Given the description of an element on the screen output the (x, y) to click on. 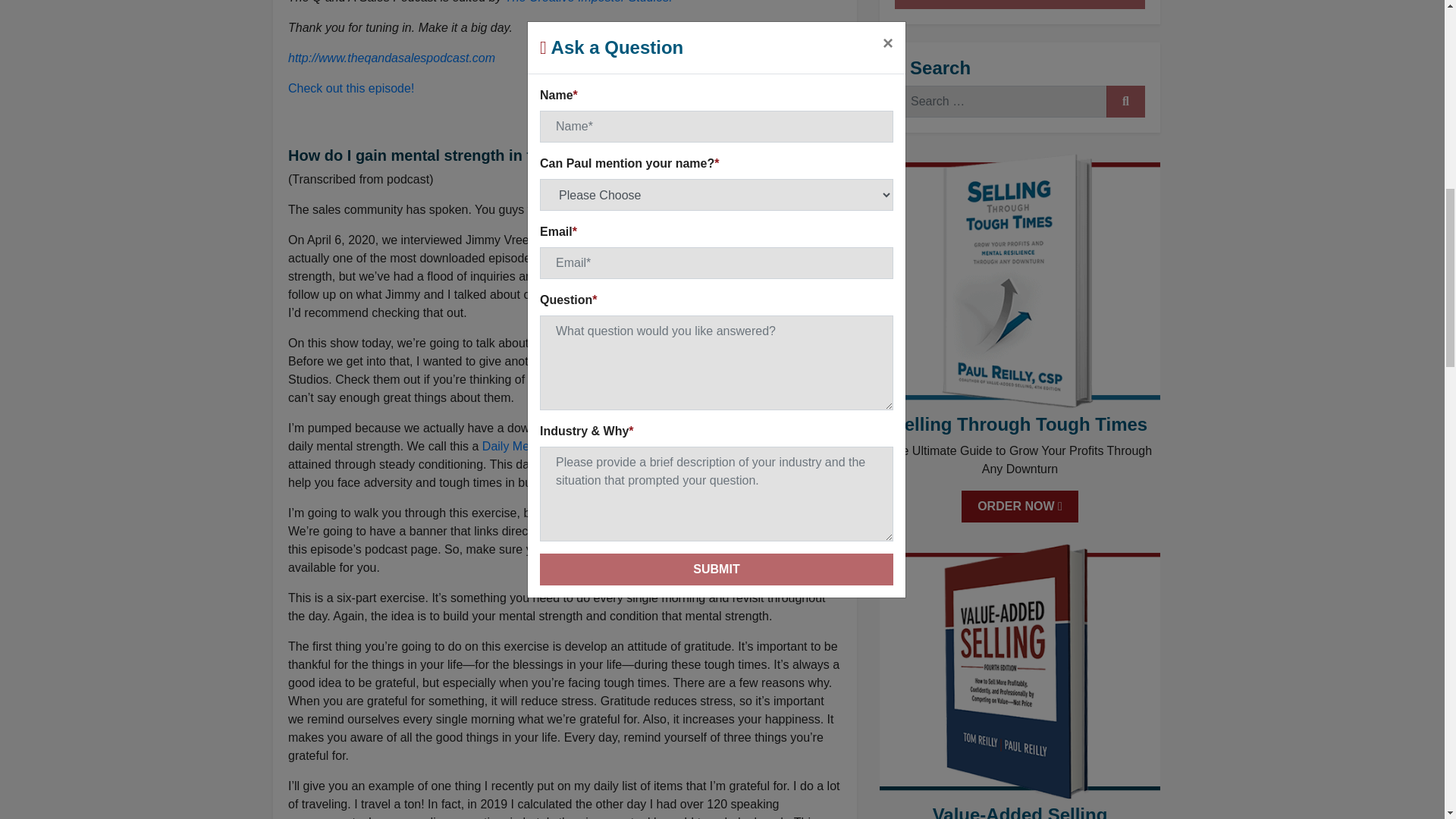
Check out this episode! (350, 88)
Submit (1019, 4)
The Creative Impostor Studios. (588, 2)
Submit (1019, 4)
ORDER NOW (1019, 506)
Daily Mental Flex (528, 445)
SUBMIT (1125, 101)
Order Now (1019, 506)
